Given the description of an element on the screen output the (x, y) to click on. 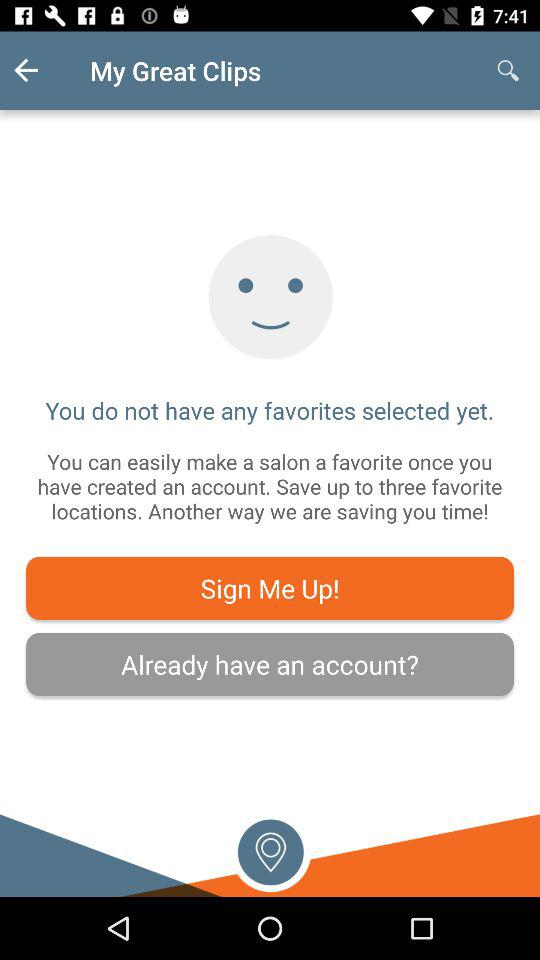
select the item next to my great clips item (508, 70)
